Given the description of an element on the screen output the (x, y) to click on. 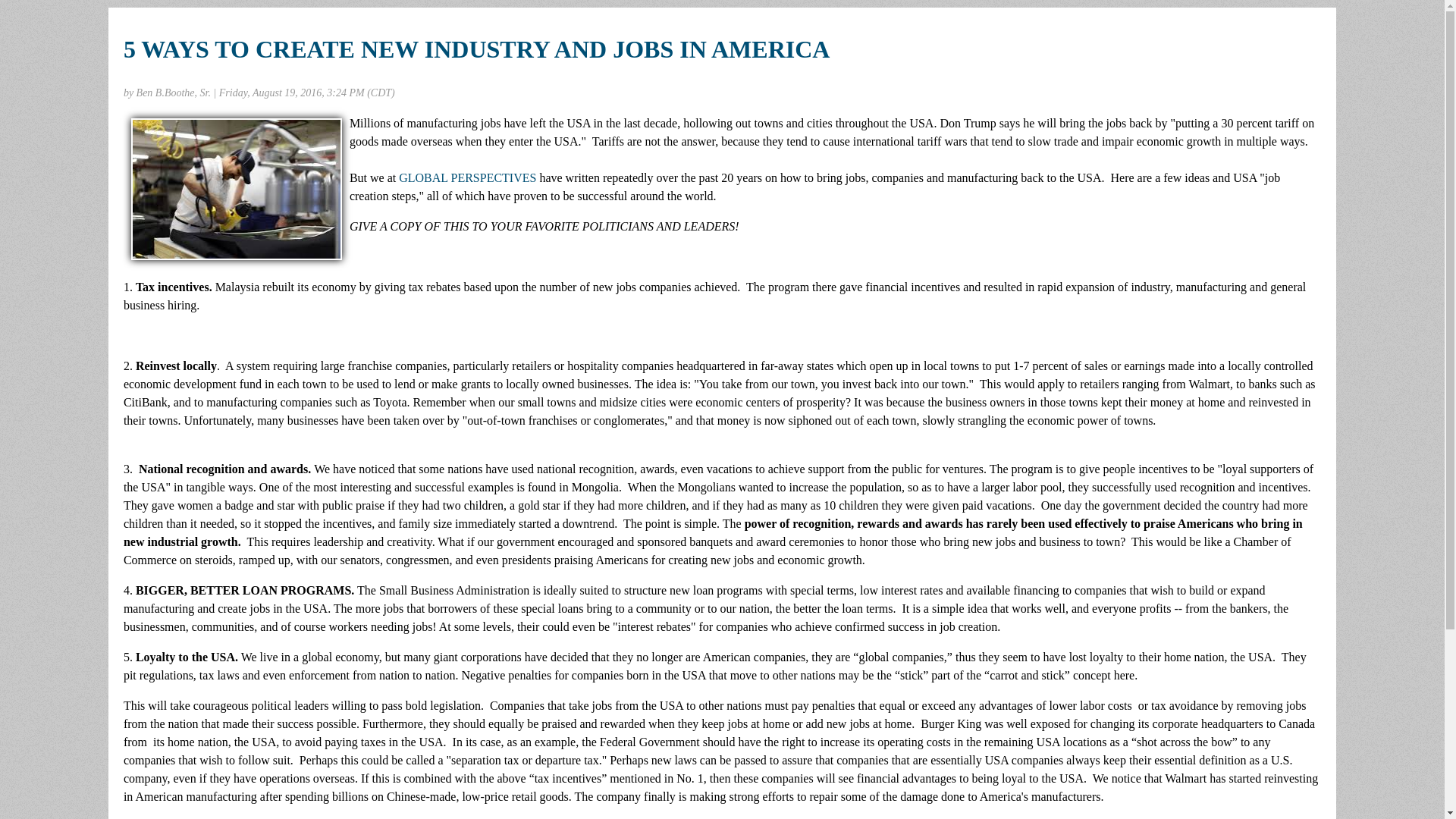
5 WAYS TO CREATE NEW INDUSTRY AND JOBS IN AMERICA (476, 49)
GLOBAL PERSPECTIVES (466, 177)
